Given the description of an element on the screen output the (x, y) to click on. 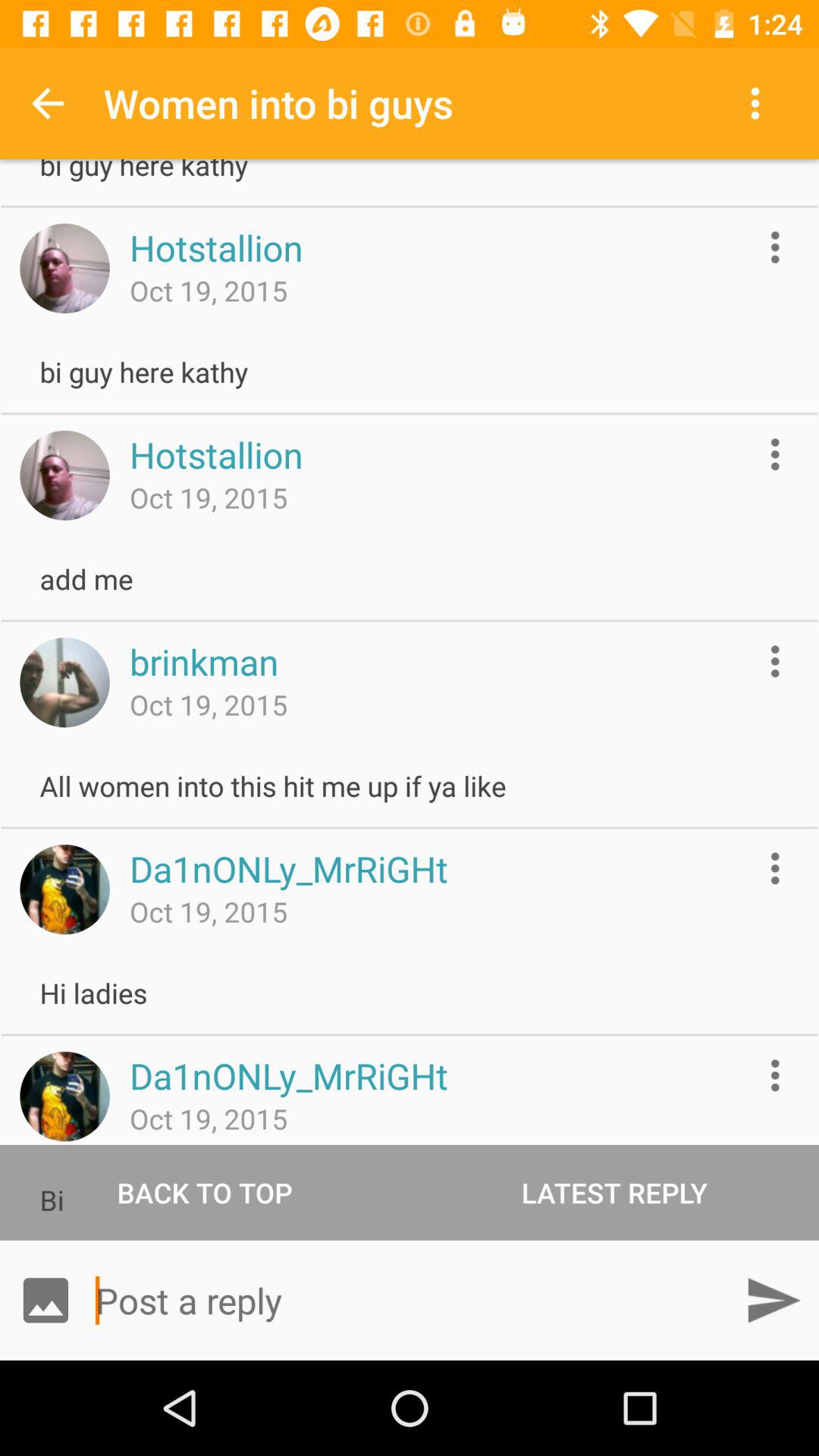
type a reply (409, 1300)
